Given the description of an element on the screen output the (x, y) to click on. 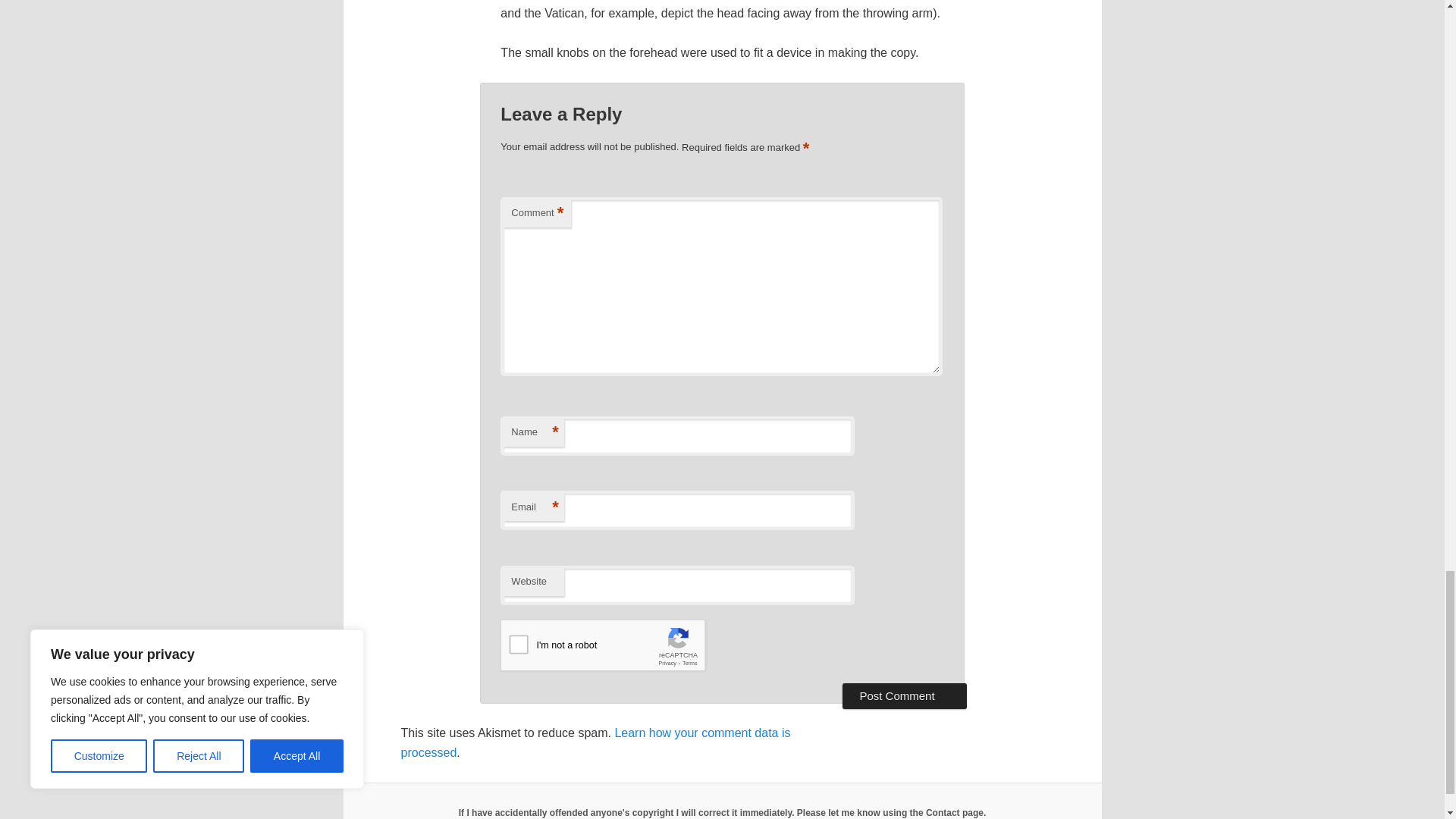
Post Comment (904, 696)
reCAPTCHA (615, 648)
Post Comment (904, 696)
Semantic Personal Publishing Platform (721, 812)
